Given the description of an element on the screen output the (x, y) to click on. 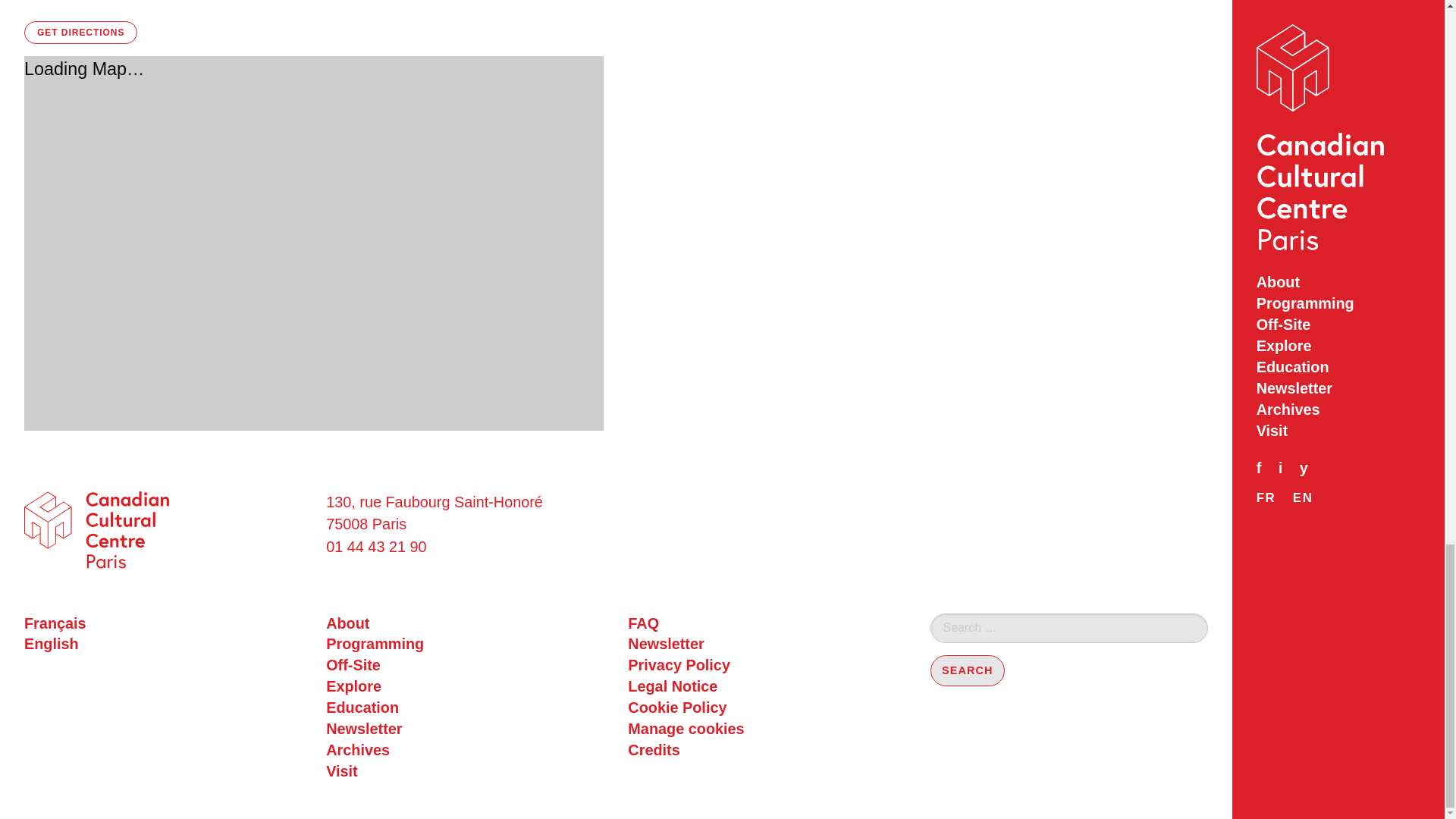
Off-Site (465, 665)
GET DIRECTIONS (80, 32)
Search (967, 670)
Newsletter (766, 644)
Search (967, 670)
Cookie Policy (766, 708)
Explore (465, 686)
Education (465, 708)
Search (967, 670)
About (465, 623)
Archives (465, 750)
Newsletter (465, 729)
FAQ (766, 623)
Programming (465, 644)
Privacy Policy (766, 665)
